Given the description of an element on the screen output the (x, y) to click on. 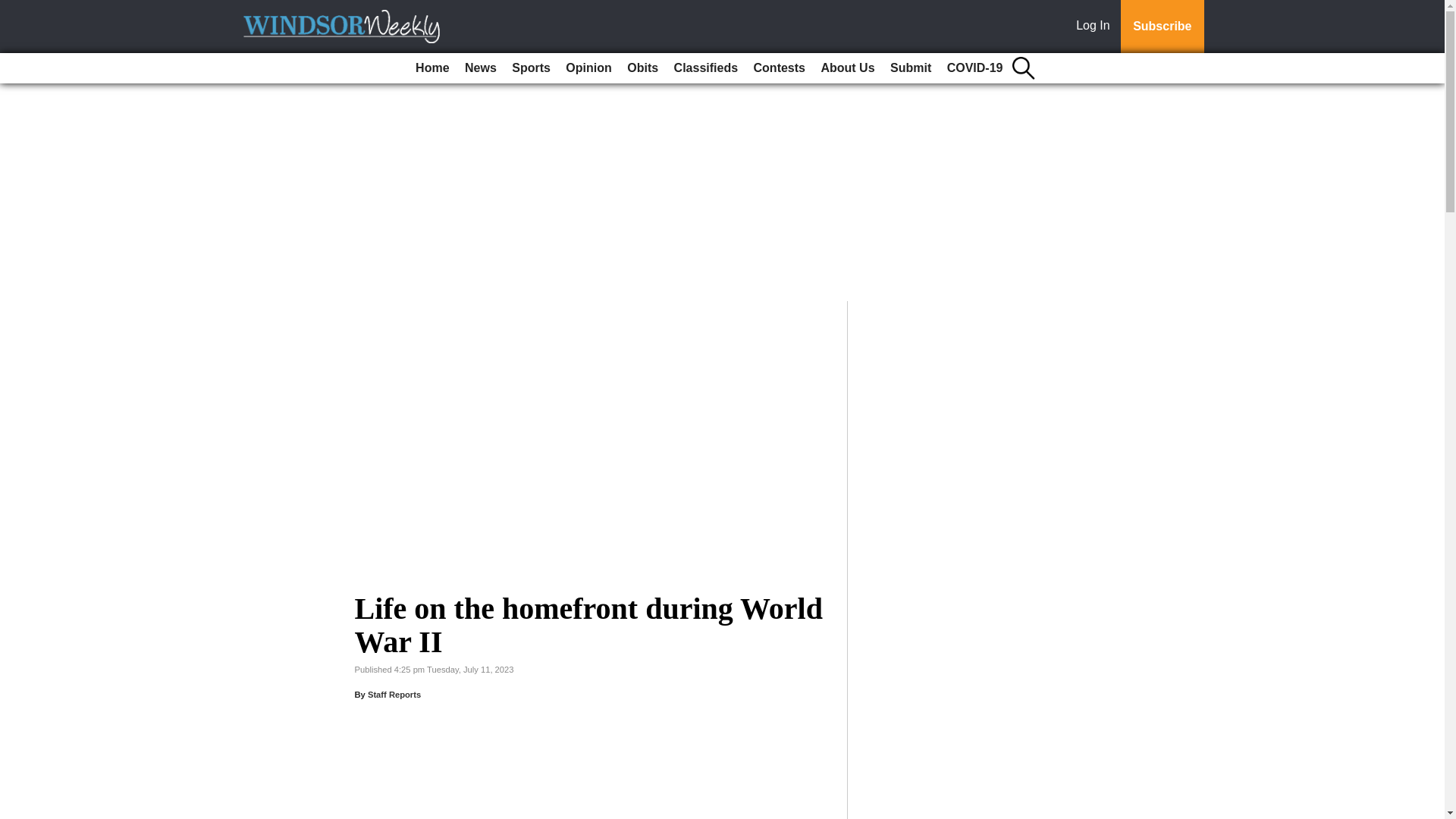
Staff Reports (394, 694)
Classifieds (706, 68)
Opinion (588, 68)
Sports (530, 68)
News (480, 68)
Submit (910, 68)
Go (13, 9)
About Us (846, 68)
Obits (642, 68)
Log In (1095, 26)
COVID-19 (974, 68)
Home (431, 68)
Contests (779, 68)
Subscribe (1162, 26)
